Given the description of an element on the screen output the (x, y) to click on. 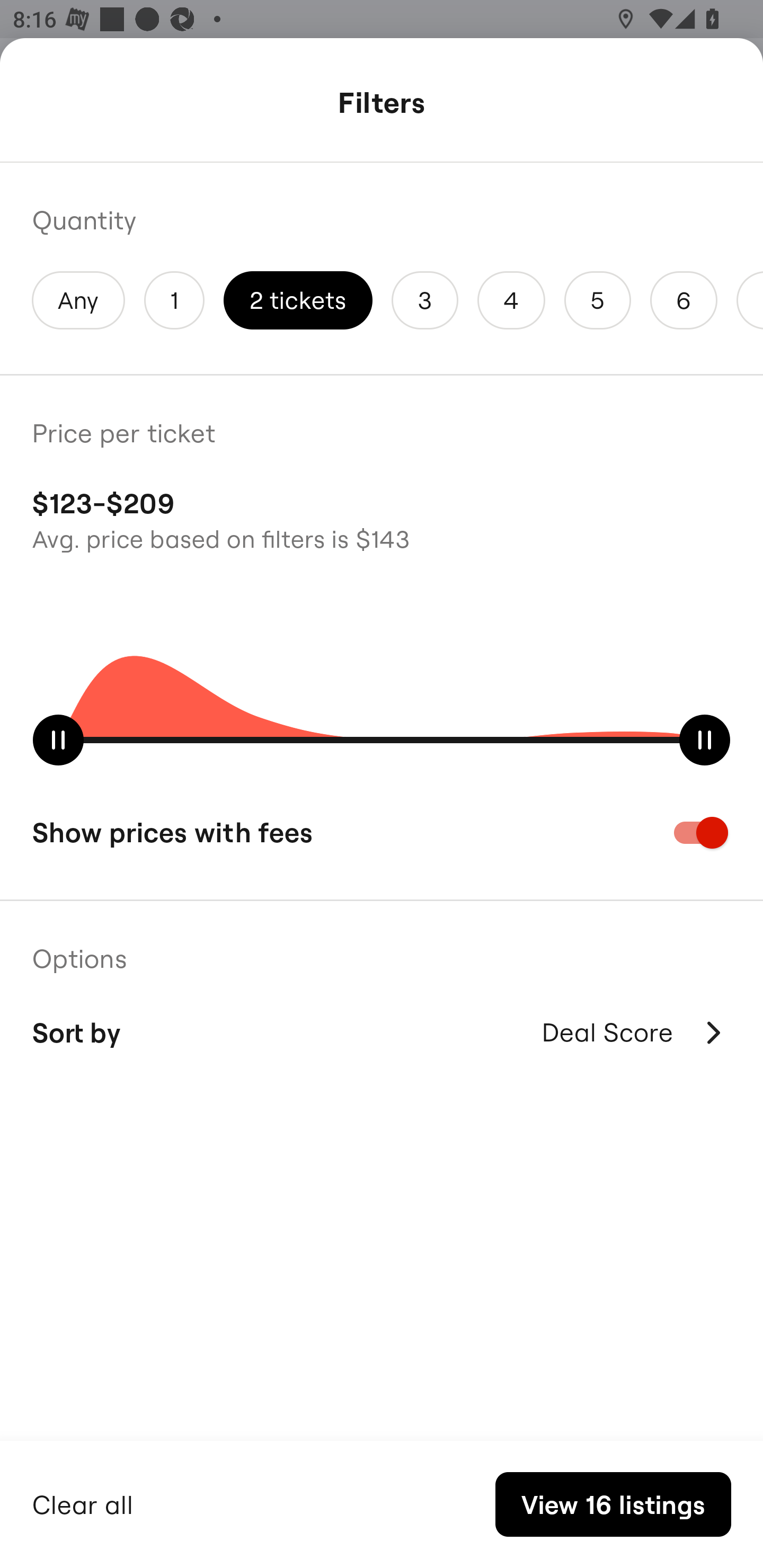
Back Matt Rife Wed, Mar 20, 7 PM Info (381, 104)
Any (78, 300)
1 (173, 300)
2 tickets (297, 300)
3 (424, 300)
4 (511, 300)
5 (597, 300)
6 (684, 300)
$123-$209 Avg. price based on filters is $143 (381, 518)
Show prices with fees (381, 832)
Sort by Deal Score (381, 1032)
Clear all (83, 1502)
View 16 listings (612, 1504)
